Given the description of an element on the screen output the (x, y) to click on. 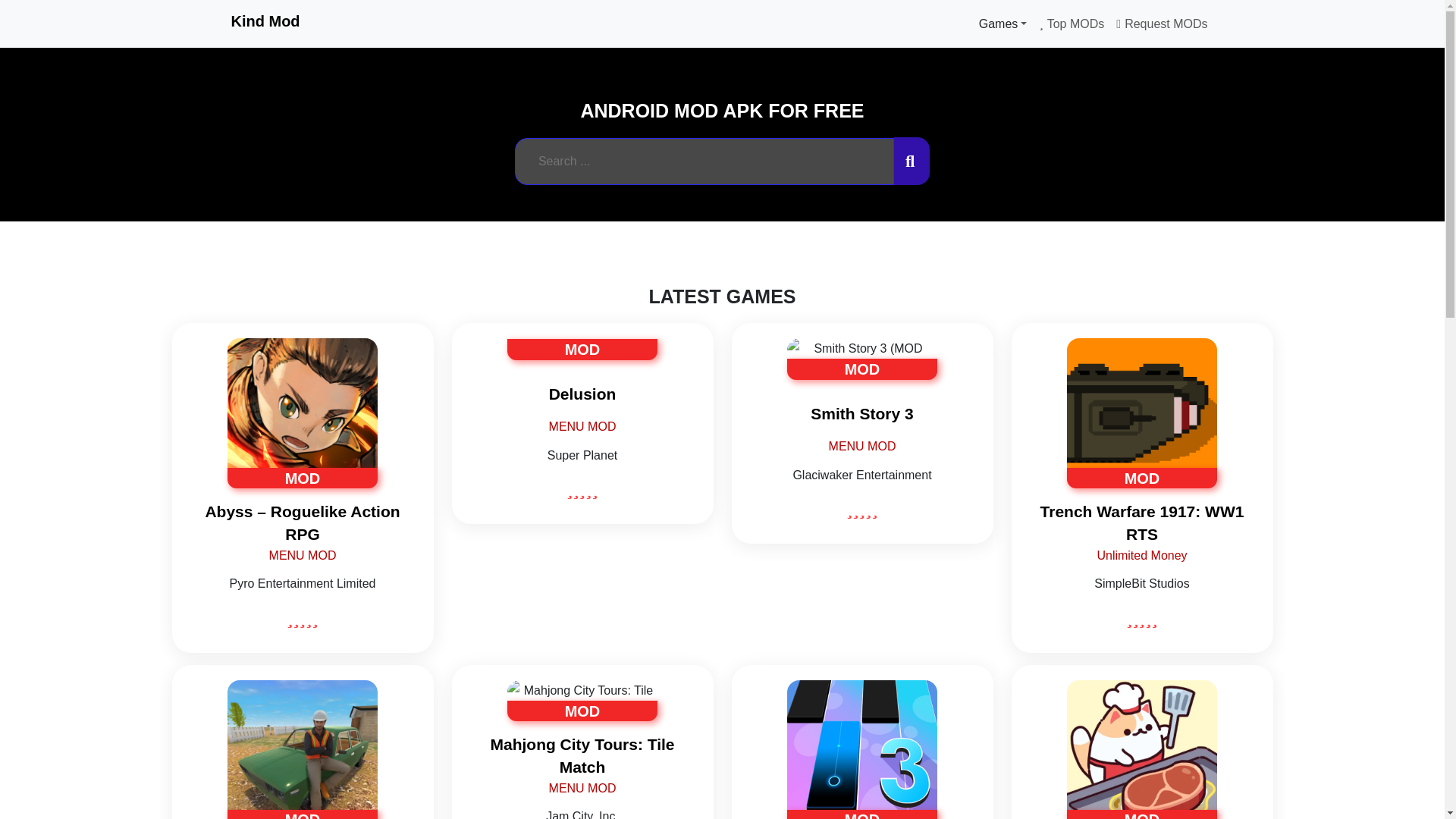
Kind Mod (264, 21)
Trench Warfare 1917: WW1 RTS (1141, 522)
Delusion (582, 394)
Games (1002, 23)
Top MODs (1070, 23)
Smith Story 3 (860, 414)
Request MODs (1160, 23)
Mahjong City Tours: Tile Match (582, 755)
